Given the description of an element on the screen output the (x, y) to click on. 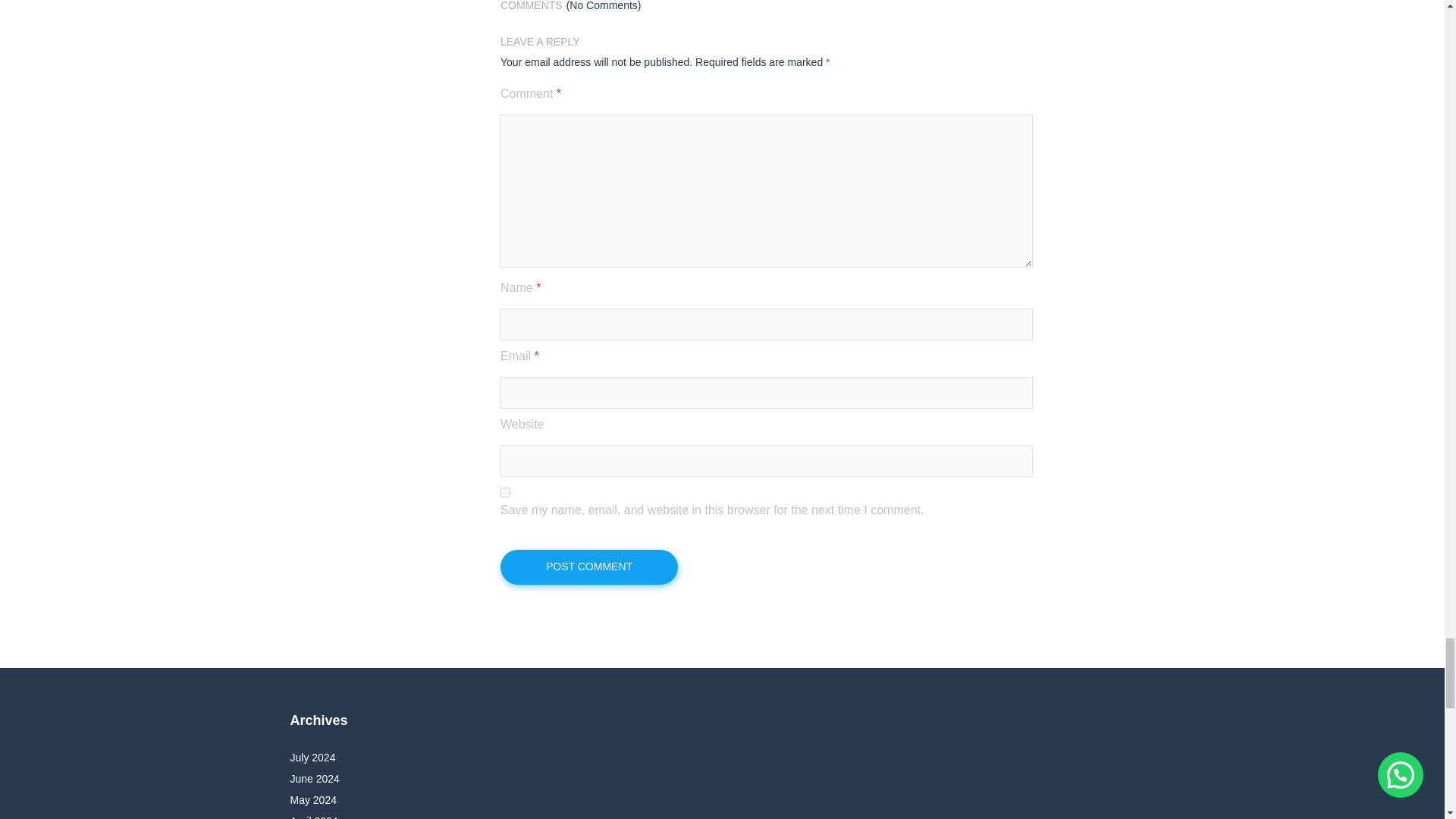
July 2024 (311, 757)
June 2024 (314, 778)
April 2024 (313, 816)
May 2024 (312, 799)
Post Comment (589, 566)
yes (505, 492)
Post Comment (589, 566)
